Given the description of an element on the screen output the (x, y) to click on. 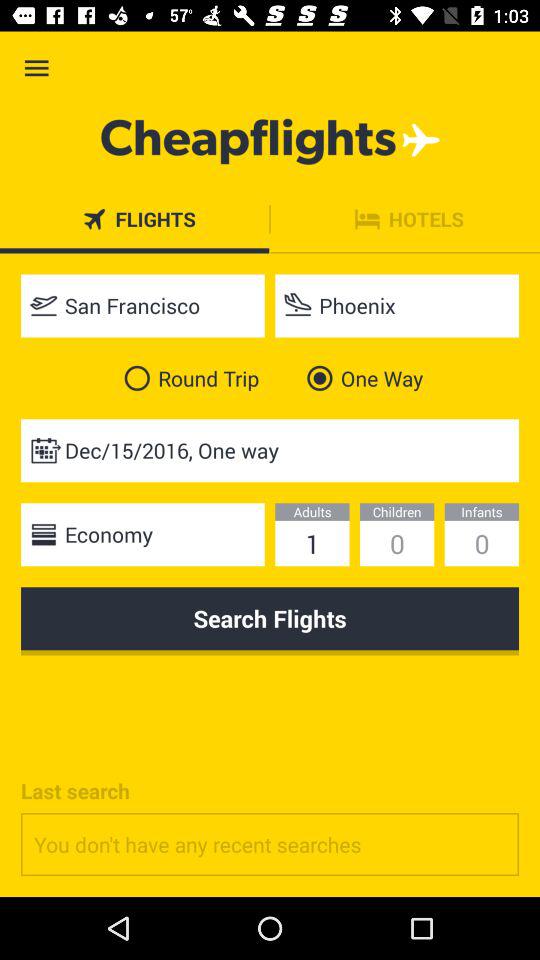
jump to phoenix item (397, 305)
